Given the description of an element on the screen output the (x, y) to click on. 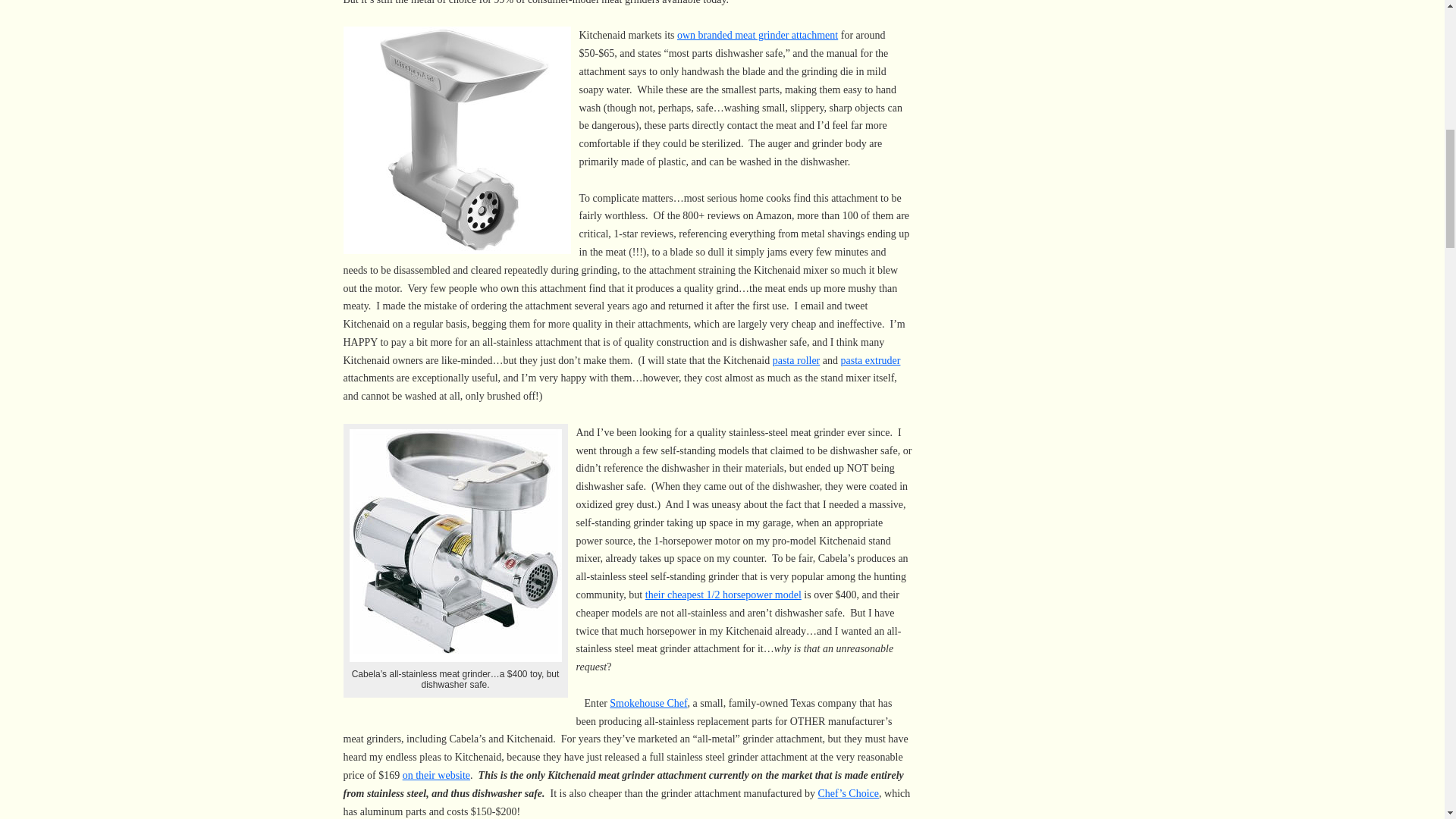
Cabelas-Meat-Grinder (454, 545)
on their website (436, 775)
Smokehouse Chef (648, 703)
pasta roller (797, 360)
pasta extruder (871, 360)
own branded meat grinder attachment (757, 34)
